Given the description of an element on the screen output the (x, y) to click on. 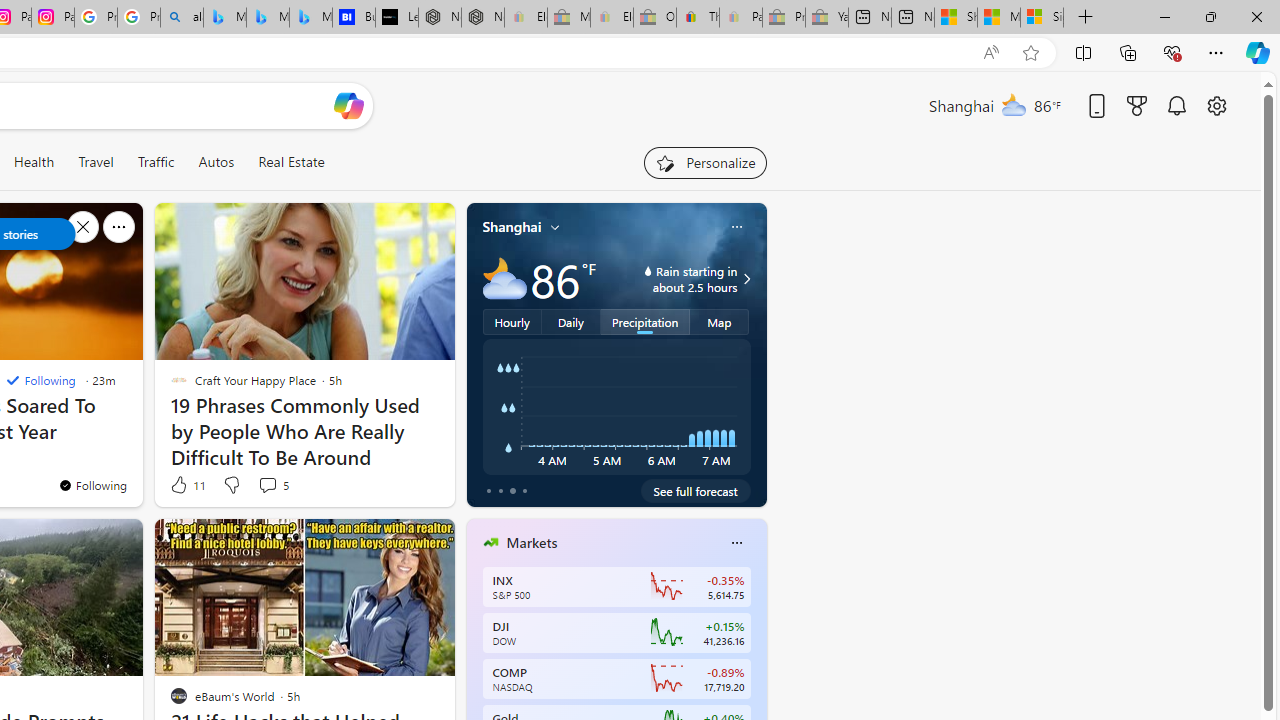
My location (555, 227)
Real Estate (291, 161)
Payments Terms of Use | eBay.com - Sleeping (740, 17)
alabama high school quarterback dies - Search (182, 17)
tab-2 (511, 490)
Split screen (1083, 52)
previous (476, 670)
Shanghai, China hourly forecast | Microsoft Weather (955, 17)
Hide this story (393, 542)
